Given the description of an element on the screen output the (x, y) to click on. 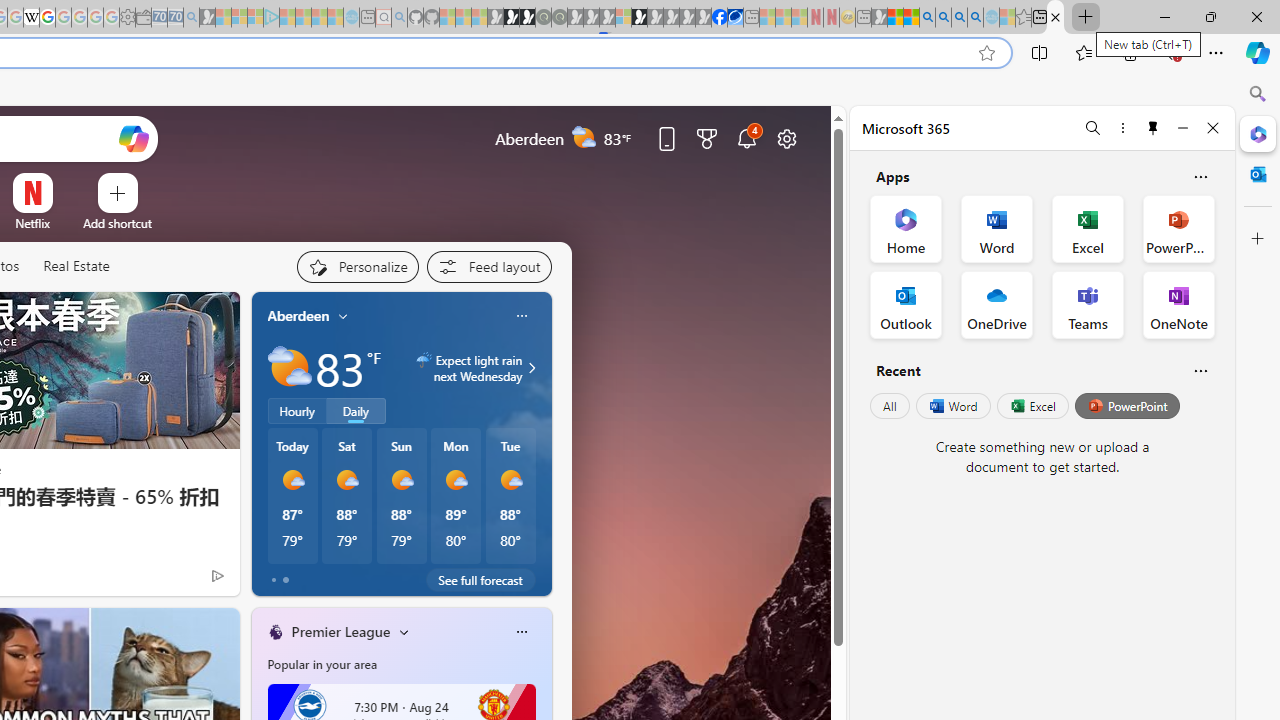
Daily (356, 411)
OneNote Office App (1178, 304)
tab-1 (285, 579)
Class: icon-img (521, 632)
Personalize your feed" (356, 266)
PowerPoint Office App (1178, 228)
Nordace | Facebook (719, 17)
Unpin side pane (1153, 127)
More interests (404, 631)
github - Search - Sleeping (399, 17)
